Given the description of an element on the screen output the (x, y) to click on. 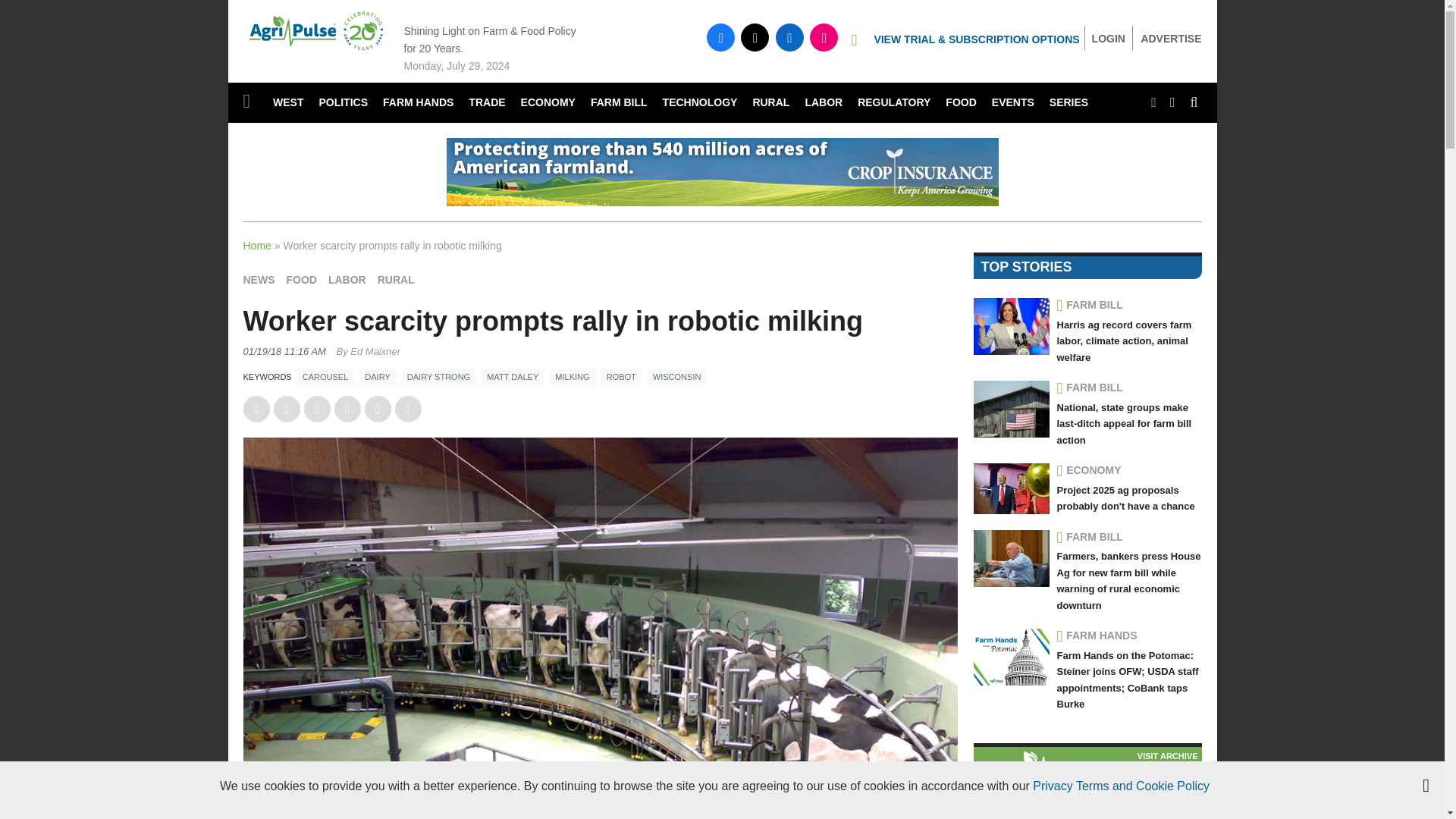
3rd party ad content (721, 172)
